Given the description of an element on the screen output the (x, y) to click on. 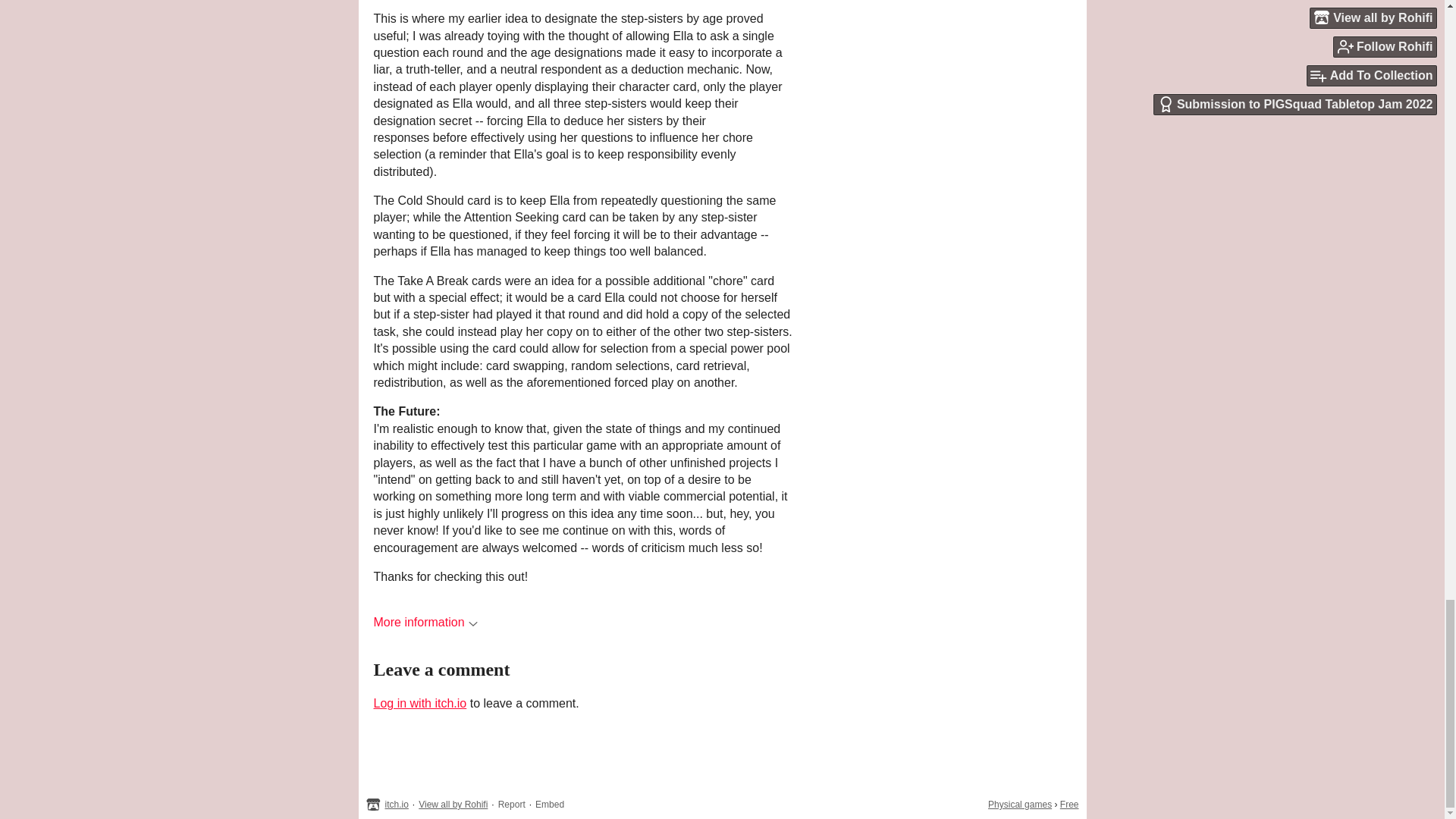
Embed (549, 804)
itch.io (397, 804)
More information (424, 621)
View all by Rohifi (453, 804)
Free (1068, 804)
Report (511, 804)
Physical games (1019, 804)
Log in with itch.io (418, 703)
